Given the description of an element on the screen output the (x, y) to click on. 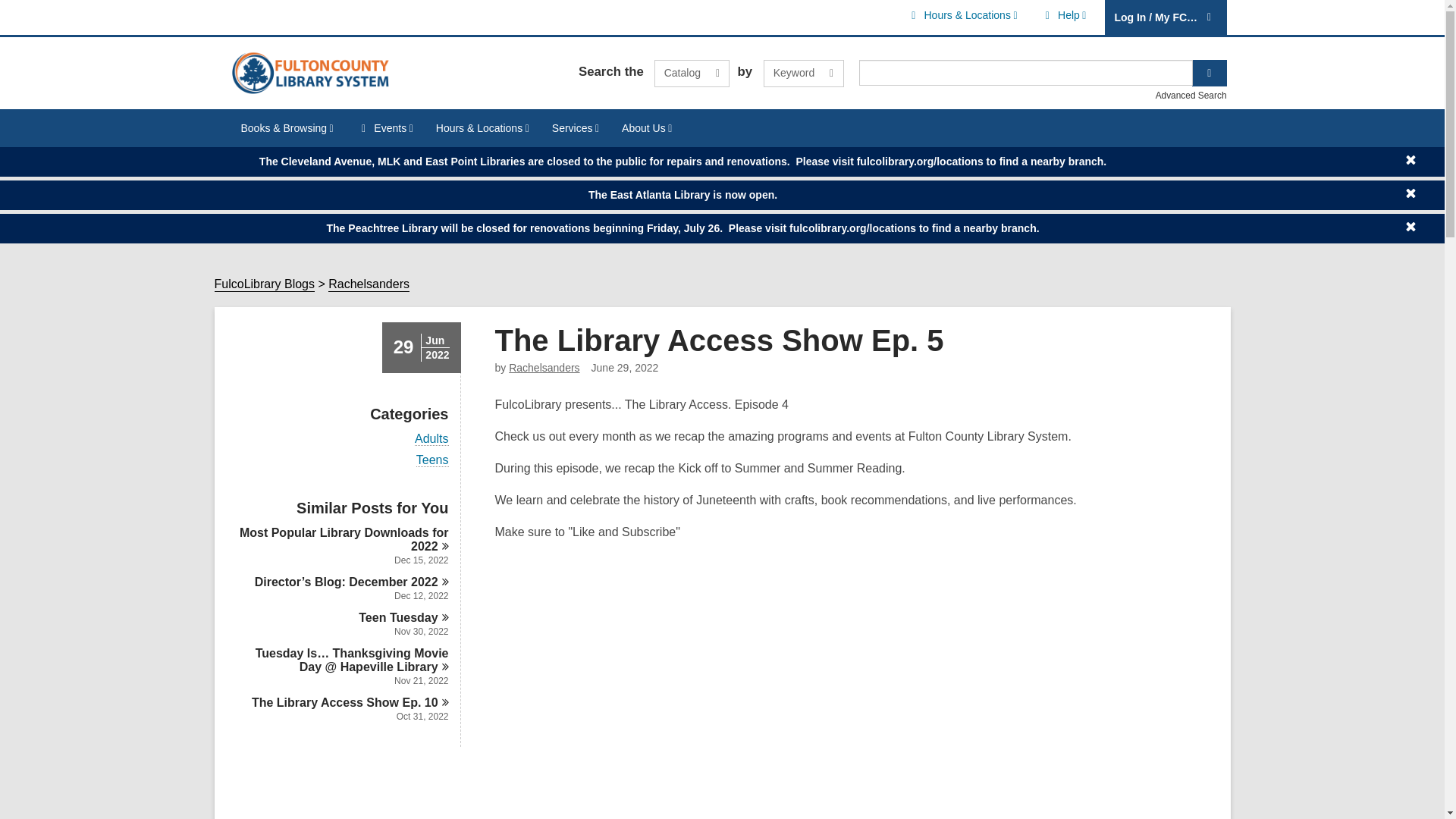
YouTube video player (706, 703)
Keyword (691, 72)
Catalog (1063, 15)
